Given the description of an element on the screen output the (x, y) to click on. 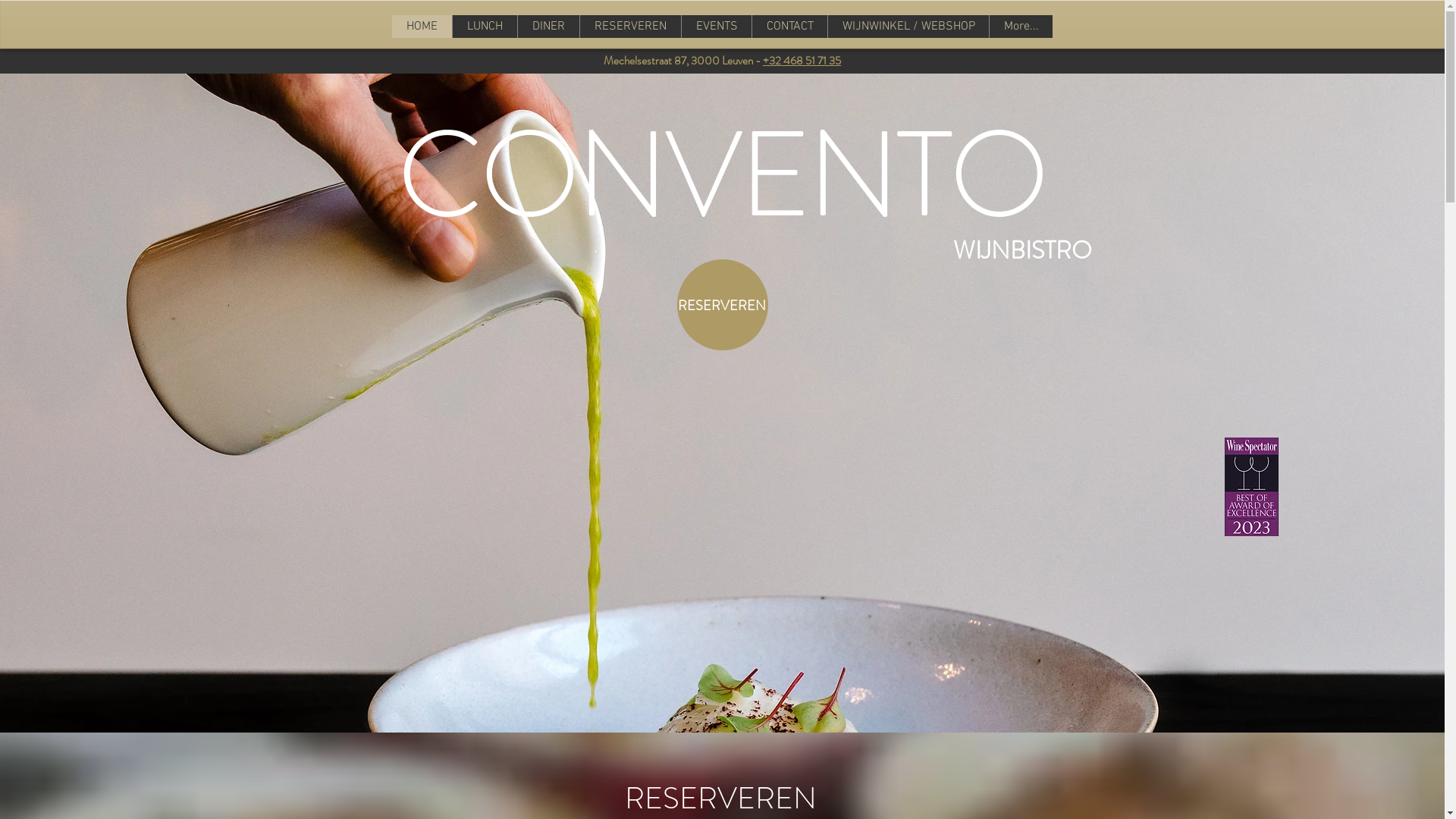
CONTACT Element type: text (917, 26)
RESERVEREN Element type: text (707, 26)
DINER Element type: text (601, 26)
+32 468 51 71 35 Element type: text (801, 60)
RESERVEREN Element type: text (721, 303)
HOME Element type: text (432, 26)
LUNCH Element type: text (516, 26)
EVENTS Element type: text (819, 26)
